Given the description of an element on the screen output the (x, y) to click on. 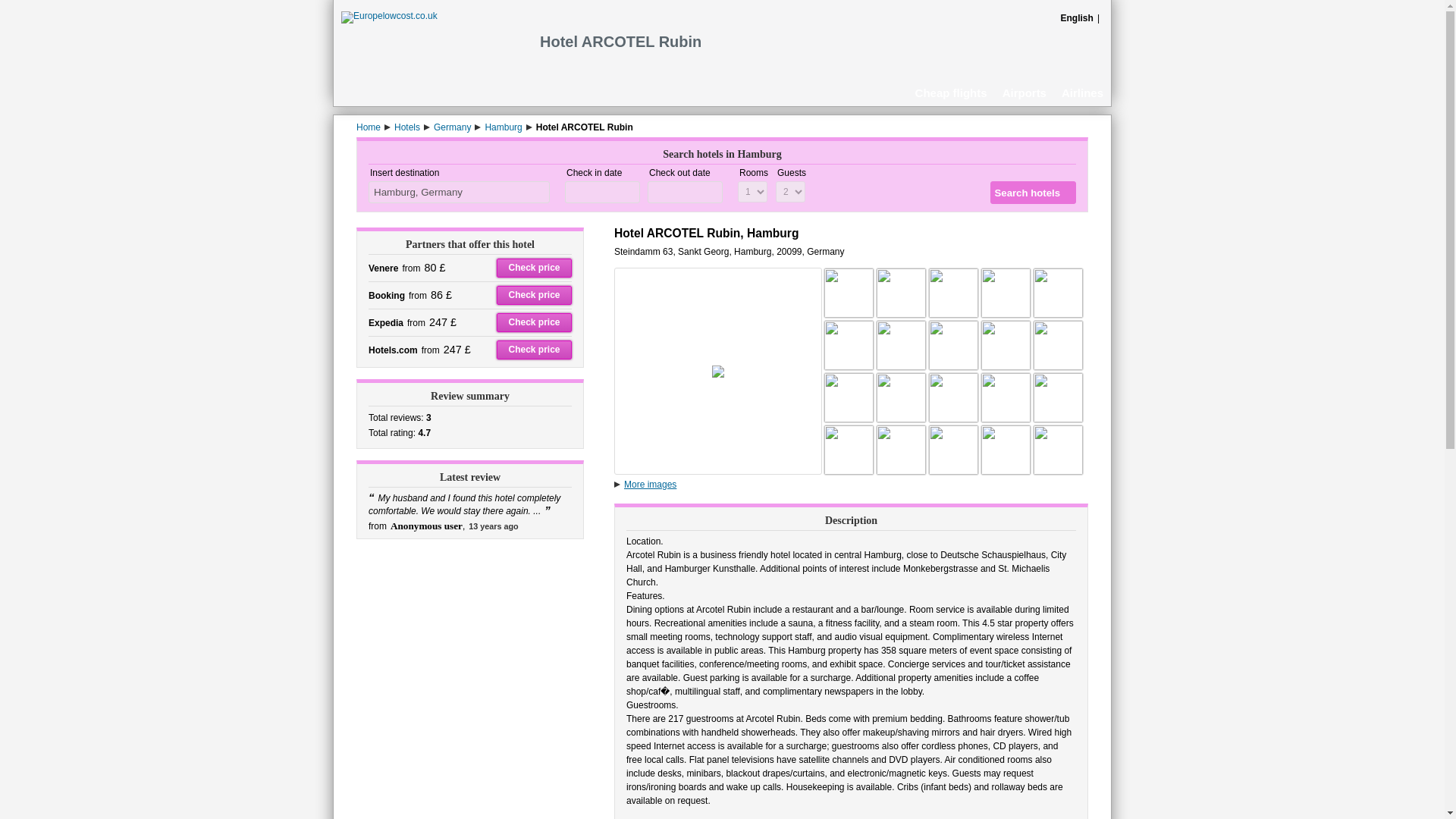
Germany (451, 127)
Europelowcost.co.uk (389, 15)
Home (368, 127)
Cheap flights (950, 91)
Hamburg (502, 127)
Hamburg, Germany (459, 191)
Search hotels (1033, 191)
Check price (534, 322)
Check price (534, 267)
Airlines (1082, 91)
Airlines (1082, 91)
Airports (1024, 91)
Airports (1024, 91)
Hotels (407, 127)
Search hotels (1033, 191)
